Given the description of an element on the screen output the (x, y) to click on. 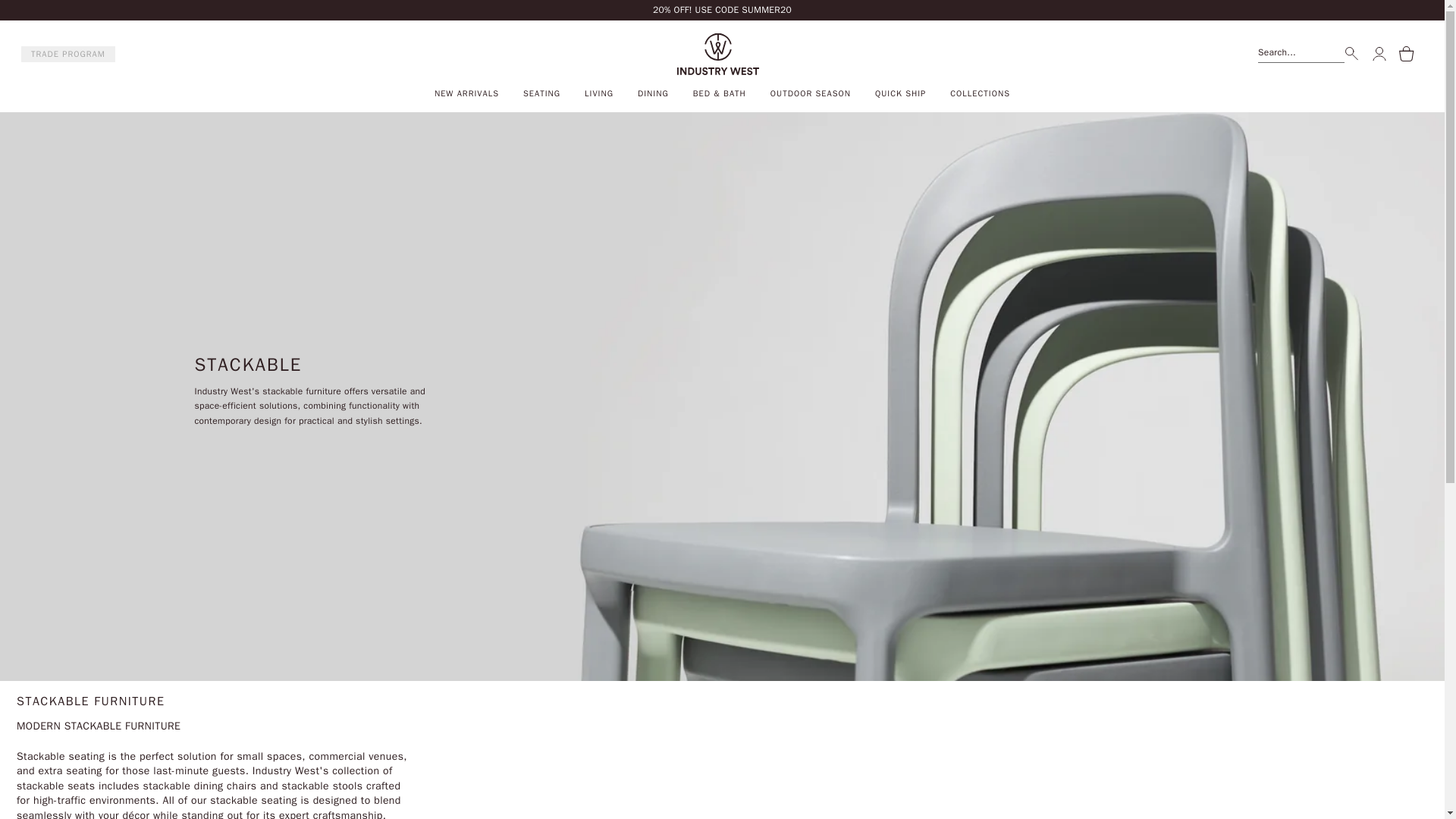
LIVING (598, 92)
COLLECTIONS (980, 92)
SEATING (541, 92)
NEW ARRIVALS (466, 92)
TRADE PROGRAM (68, 54)
OUTDOOR SEASON (810, 92)
DINING (652, 92)
QUICK SHIP (900, 92)
